Given the description of an element on the screen output the (x, y) to click on. 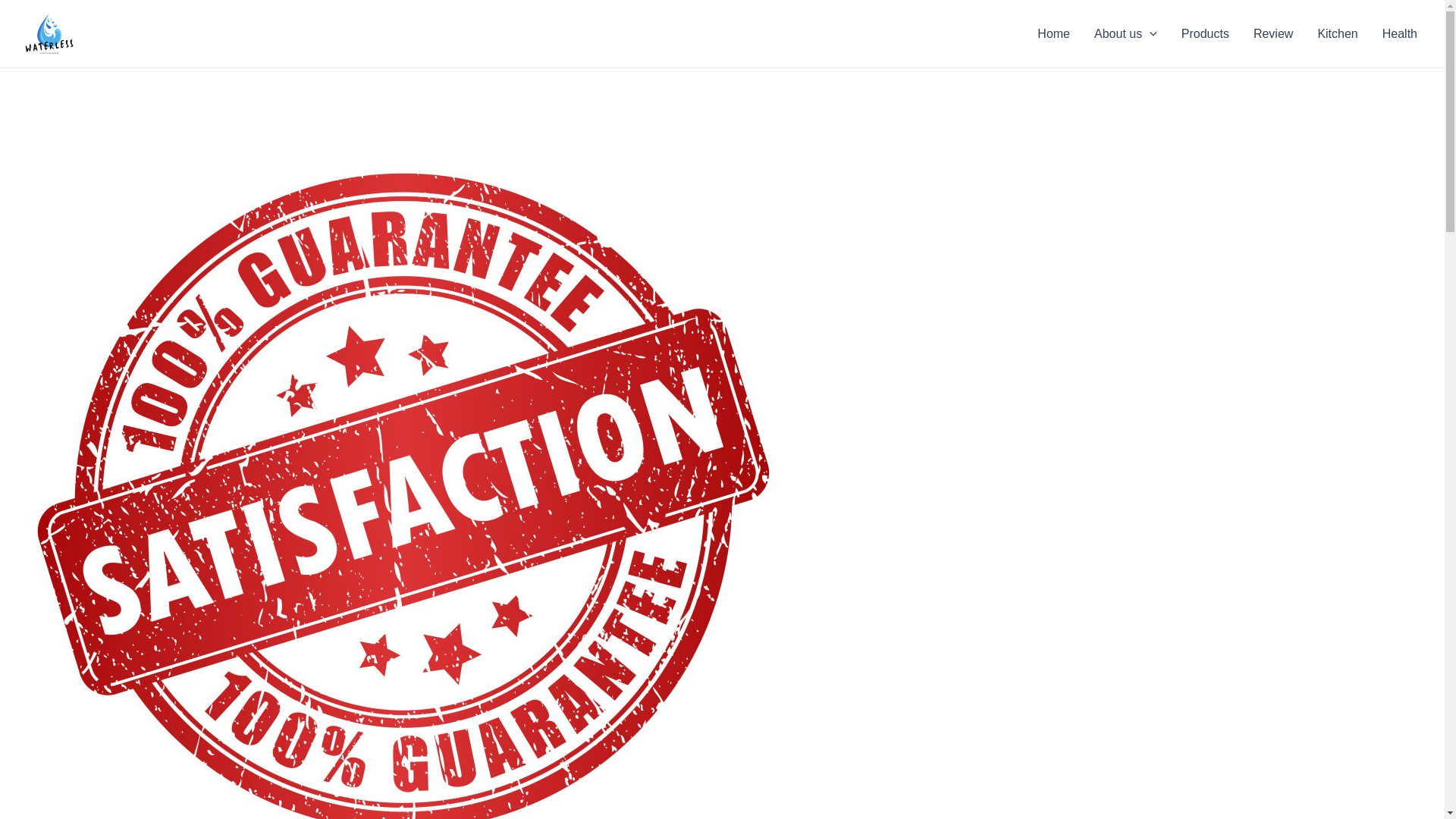
About us (1125, 33)
Products (1205, 33)
Review (1272, 33)
Health (1399, 33)
Kitchen (1337, 33)
Home (1053, 33)
